Given the description of an element on the screen output the (x, y) to click on. 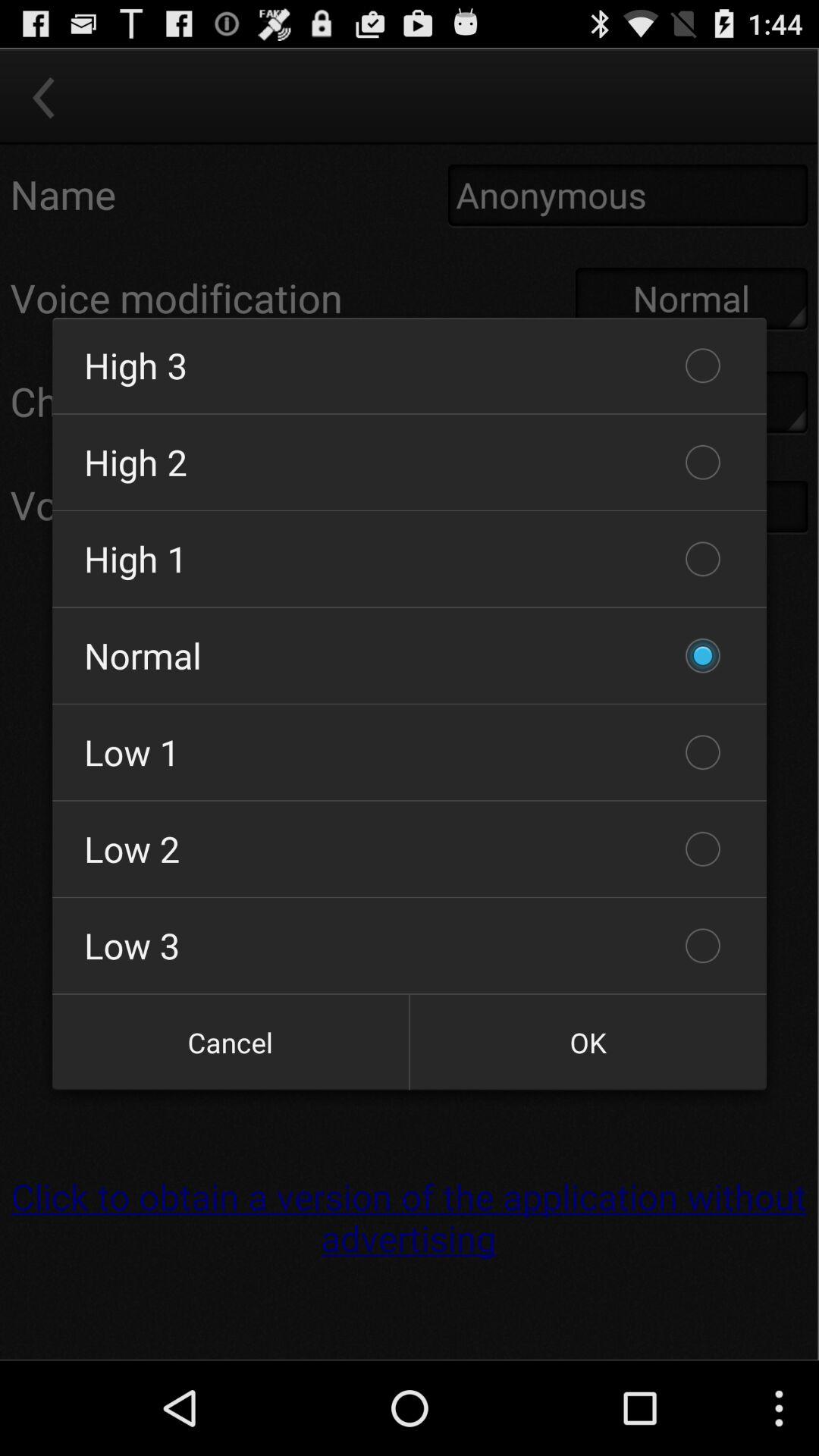
launch the icon to the right of cancel (588, 1042)
